Given the description of an element on the screen output the (x, y) to click on. 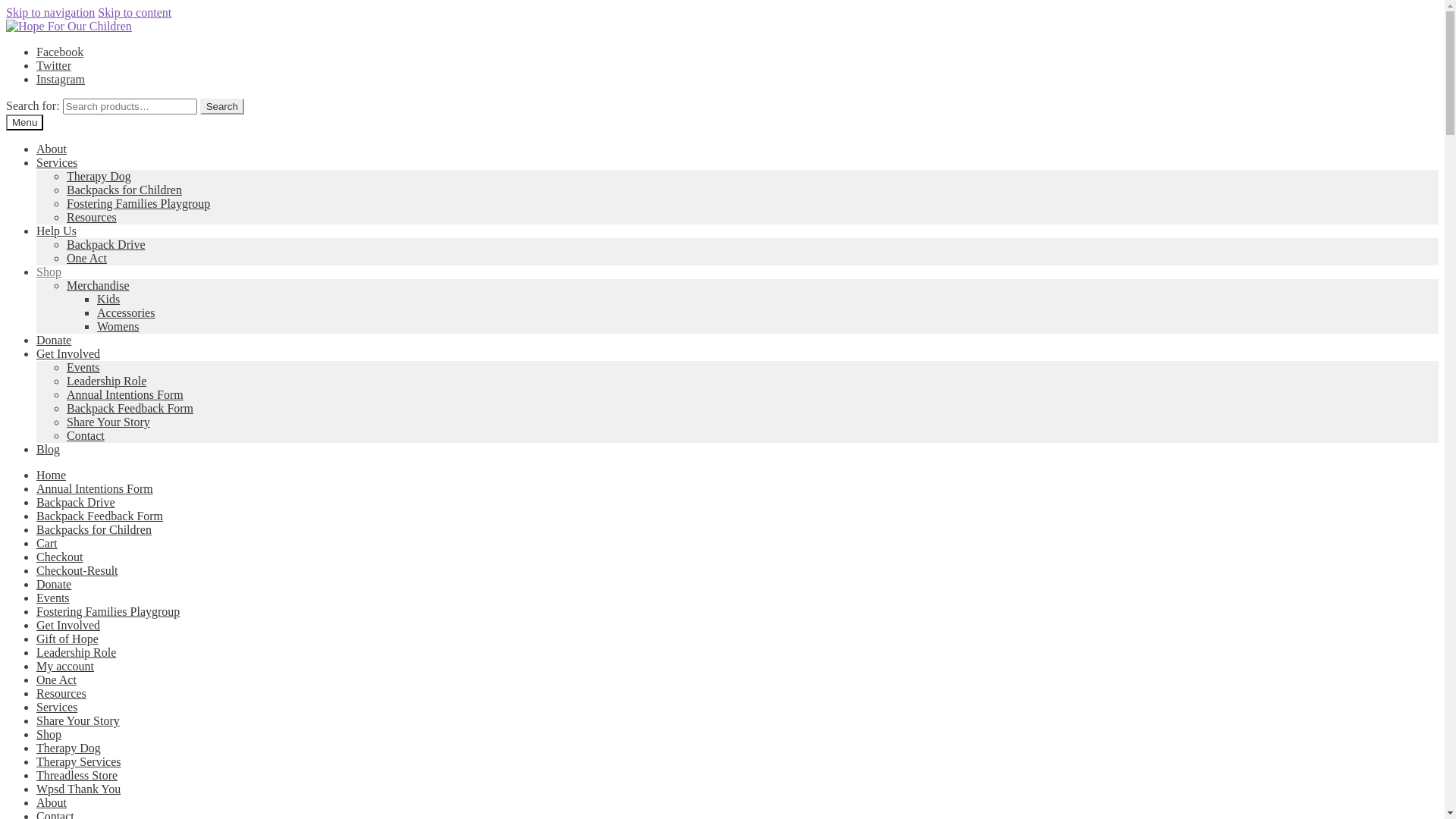
Backpack Feedback Form Element type: text (99, 515)
Annual Intentions Form Element type: text (94, 488)
Fostering Families Playgroup Element type: text (107, 611)
Help Us Element type: text (56, 230)
My account Element type: text (65, 665)
Menu Element type: text (24, 122)
One Act Element type: text (56, 679)
Resources Element type: text (91, 216)
Womens Element type: text (118, 326)
Events Element type: text (52, 597)
Therapy Dog Element type: text (98, 175)
Leadership Role Element type: text (106, 380)
Cart Element type: text (46, 542)
Backpack Drive Element type: text (105, 244)
Merchandise Element type: text (97, 285)
Therapy Services Element type: text (78, 761)
Services Element type: text (56, 162)
Share Your Story Element type: text (108, 421)
Events Element type: text (83, 366)
Fostering Families Playgroup Element type: text (138, 203)
Backpacks for Children Element type: text (93, 529)
Share Your Story Element type: text (77, 720)
Donate Element type: text (53, 583)
Therapy Dog Element type: text (68, 747)
Skip to content Element type: text (134, 12)
Contact Element type: text (85, 435)
Backpack Drive Element type: text (75, 501)
Shop Element type: text (48, 271)
Backpacks for Children Element type: text (124, 189)
Facebook Element type: text (59, 51)
About Element type: text (51, 802)
Kids Element type: text (108, 298)
Twitter Element type: text (53, 65)
Get Involved Element type: text (68, 353)
Annual Intentions Form Element type: text (124, 394)
Checkout Element type: text (59, 556)
Home Element type: text (50, 474)
Services Element type: text (56, 706)
Resources Element type: text (61, 693)
Threadless Store Element type: text (76, 774)
Leadership Role Element type: text (76, 652)
Blog Element type: text (47, 448)
Donate Element type: text (53, 339)
Wpsd Thank You Element type: text (78, 788)
About Element type: text (51, 148)
Skip to navigation Element type: text (50, 12)
One Act Element type: text (86, 257)
Shop Element type: text (48, 734)
Instagram Element type: text (60, 78)
Search Element type: text (222, 106)
Gift of Hope Element type: text (67, 638)
Checkout-Result Element type: text (77, 570)
Get Involved Element type: text (68, 624)
Backpack Feedback Form Element type: text (129, 407)
Accessories Element type: text (125, 312)
